Given the description of an element on the screen output the (x, y) to click on. 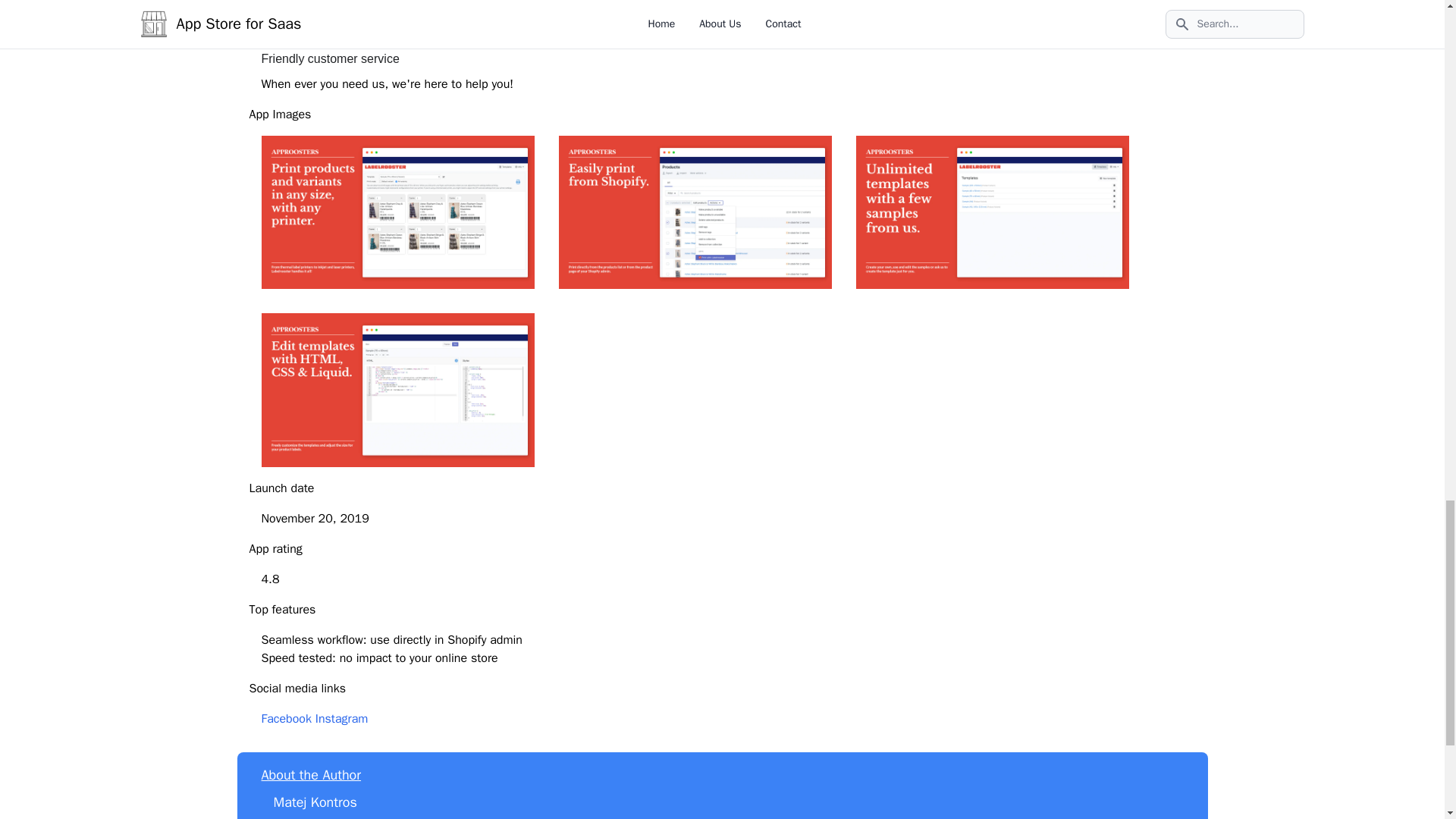
Facebook (285, 718)
Instagram (341, 718)
Matej Kontros (314, 801)
